Given the description of an element on the screen output the (x, y) to click on. 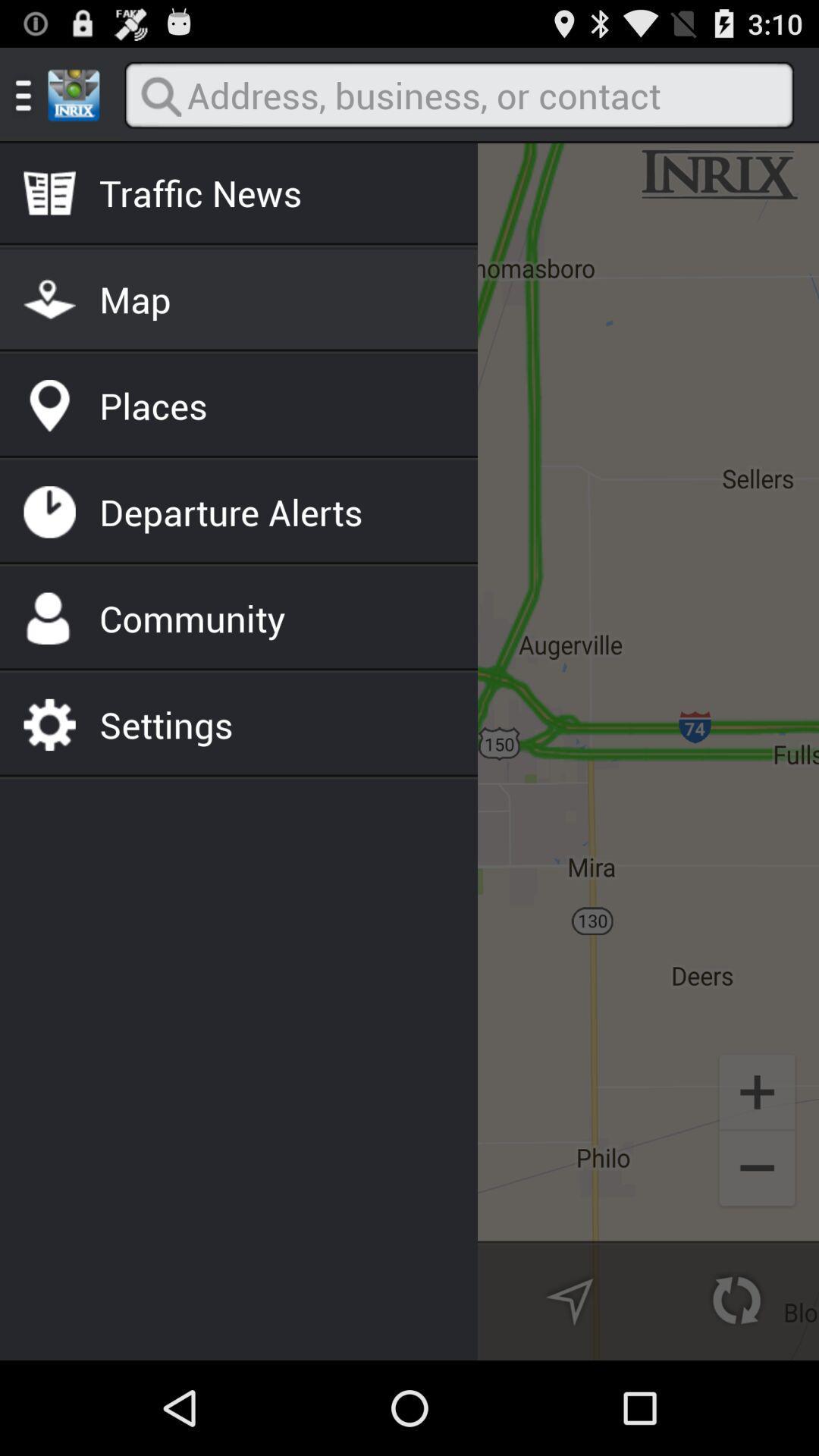
swipe to the departure alerts (230, 511)
